Given the description of an element on the screen output the (x, y) to click on. 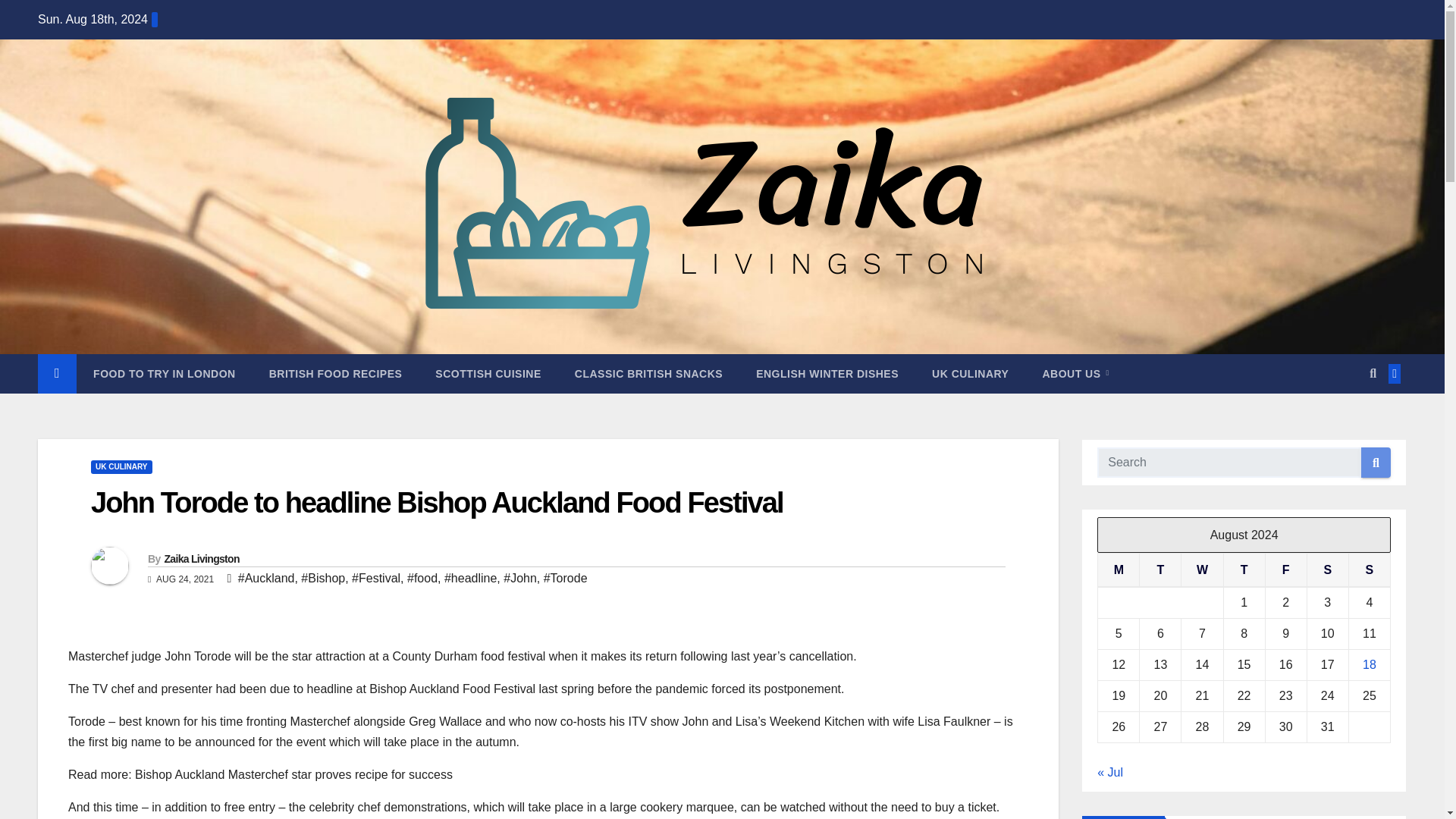
ENGLISH WINTER DISHES (827, 373)
Classic British Snacks (648, 373)
UK Culinary (970, 373)
About Us (1075, 373)
Zaika Livingston (200, 558)
CLASSIC BRITISH SNACKS (648, 373)
SCOTTISH CUISINE (488, 373)
John Torode to headline Bishop Auckland Food Festival (436, 502)
FOOD TO TRY IN LONDON (164, 373)
British Food Recipes (335, 373)
